Given the description of an element on the screen output the (x, y) to click on. 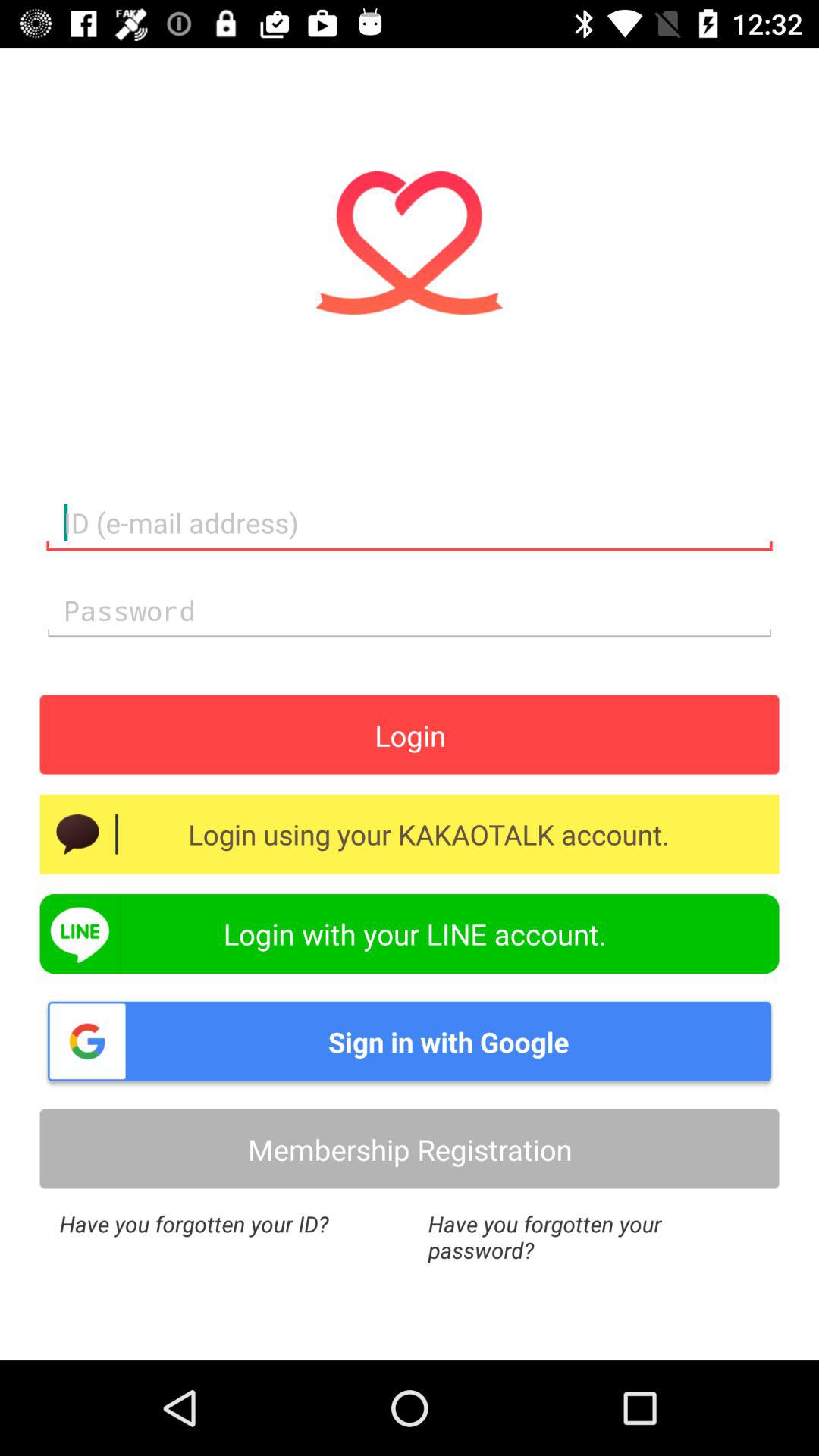
tap the item above membership registration (409, 1041)
